Given the description of an element on the screen output the (x, y) to click on. 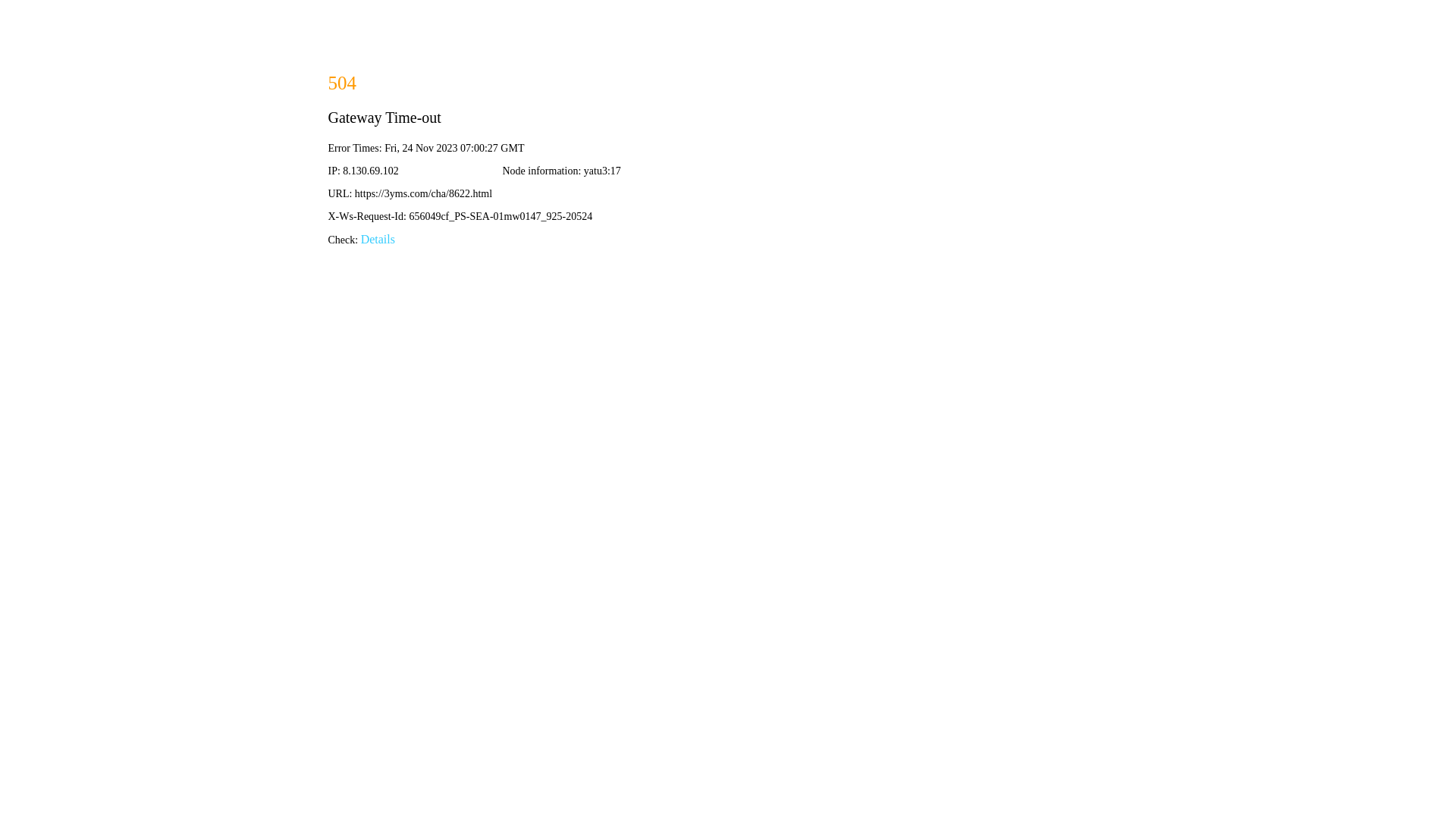
Details Element type: text (377, 238)
